Given the description of an element on the screen output the (x, y) to click on. 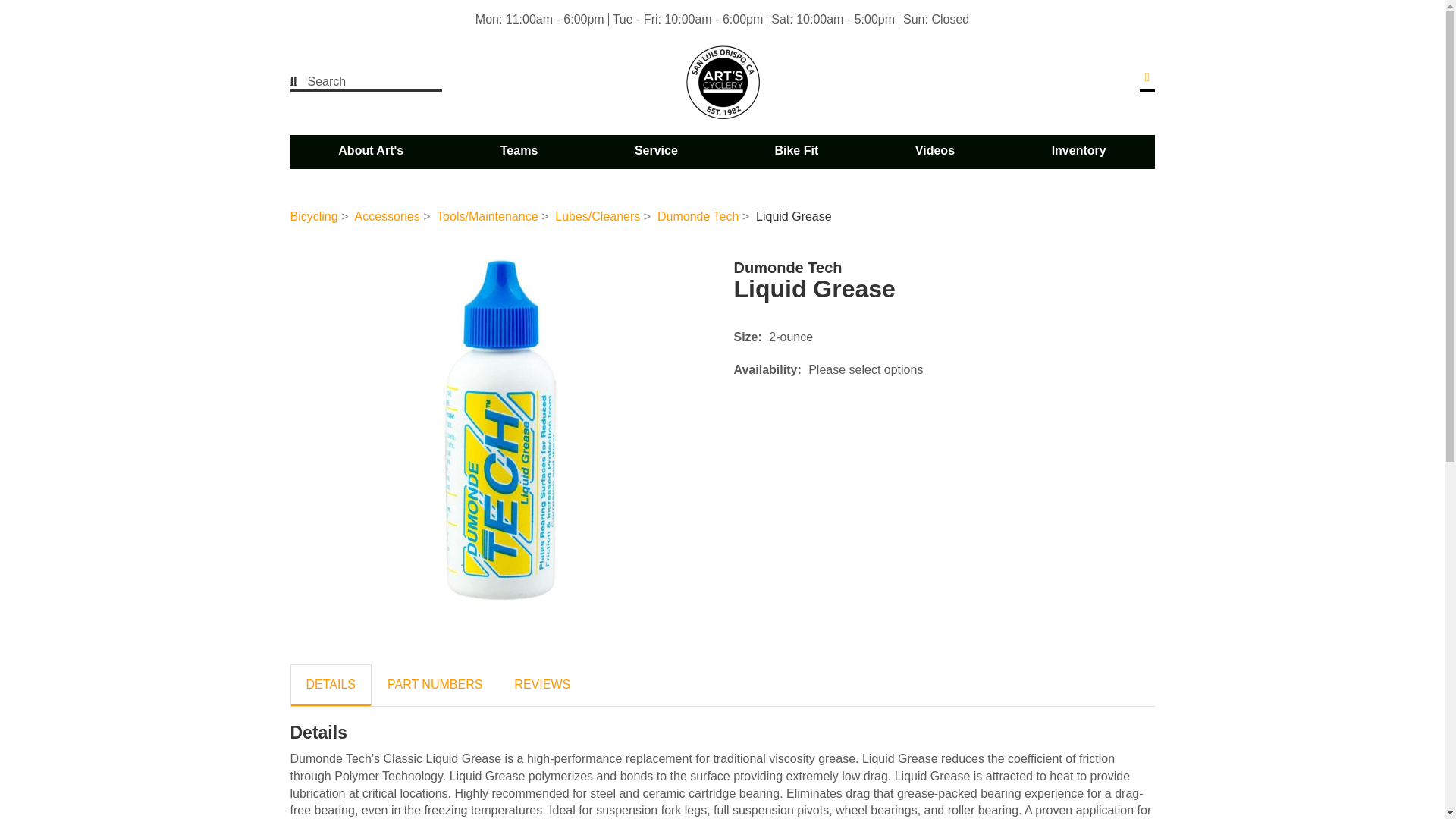
Teams (518, 151)
Bike Fit (795, 151)
Arts SLO Cyclery Home Page (721, 81)
Service (656, 151)
About Art's (371, 151)
Videos (934, 151)
Inventory (1078, 151)
Search (356, 81)
